Given the description of an element on the screen output the (x, y) to click on. 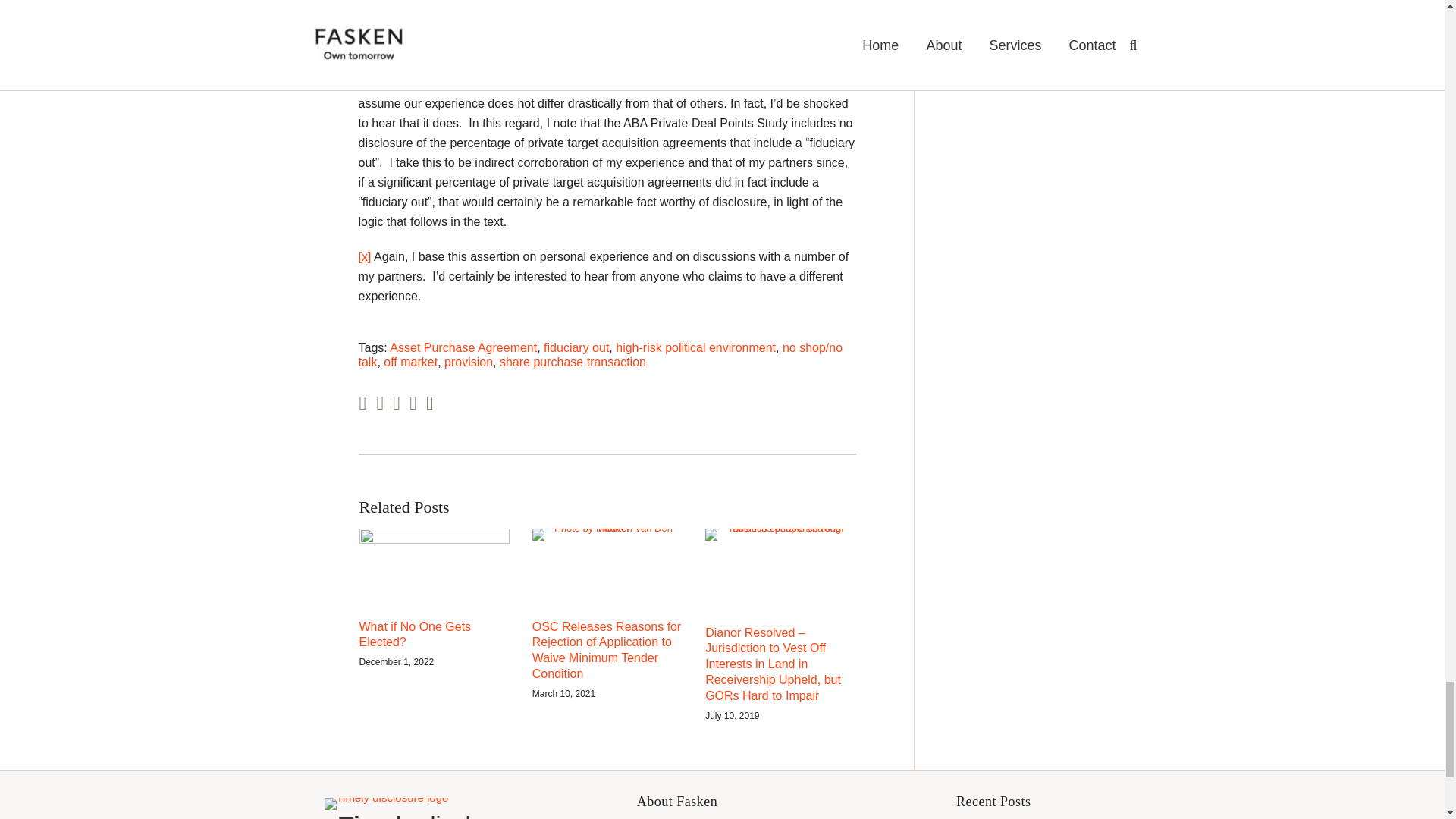
Asset Purchase Agreement (463, 347)
fiduciary out (575, 347)
off market (411, 361)
high-risk political environment (695, 347)
